Given the description of an element on the screen output the (x, y) to click on. 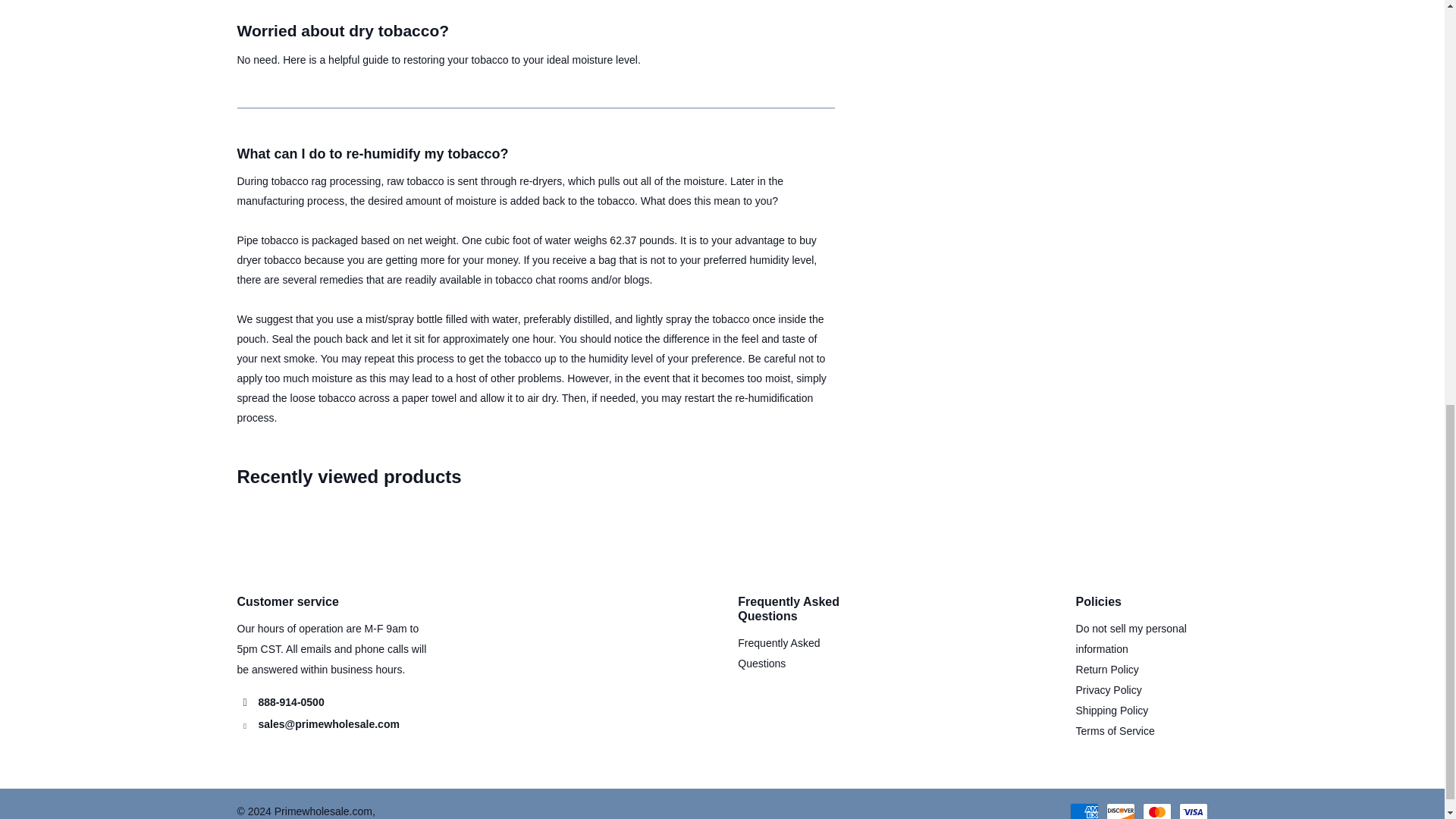
American Express (1082, 811)
Terms of Service (1114, 730)
Do not sell my personal information (1130, 638)
Return Policy (1106, 669)
Frequently Asked Questions (778, 653)
Visa (1192, 811)
Privacy Policy (1108, 689)
Mastercard (1155, 811)
Discover (1119, 811)
Shipping Policy (1111, 710)
